Given the description of an element on the screen output the (x, y) to click on. 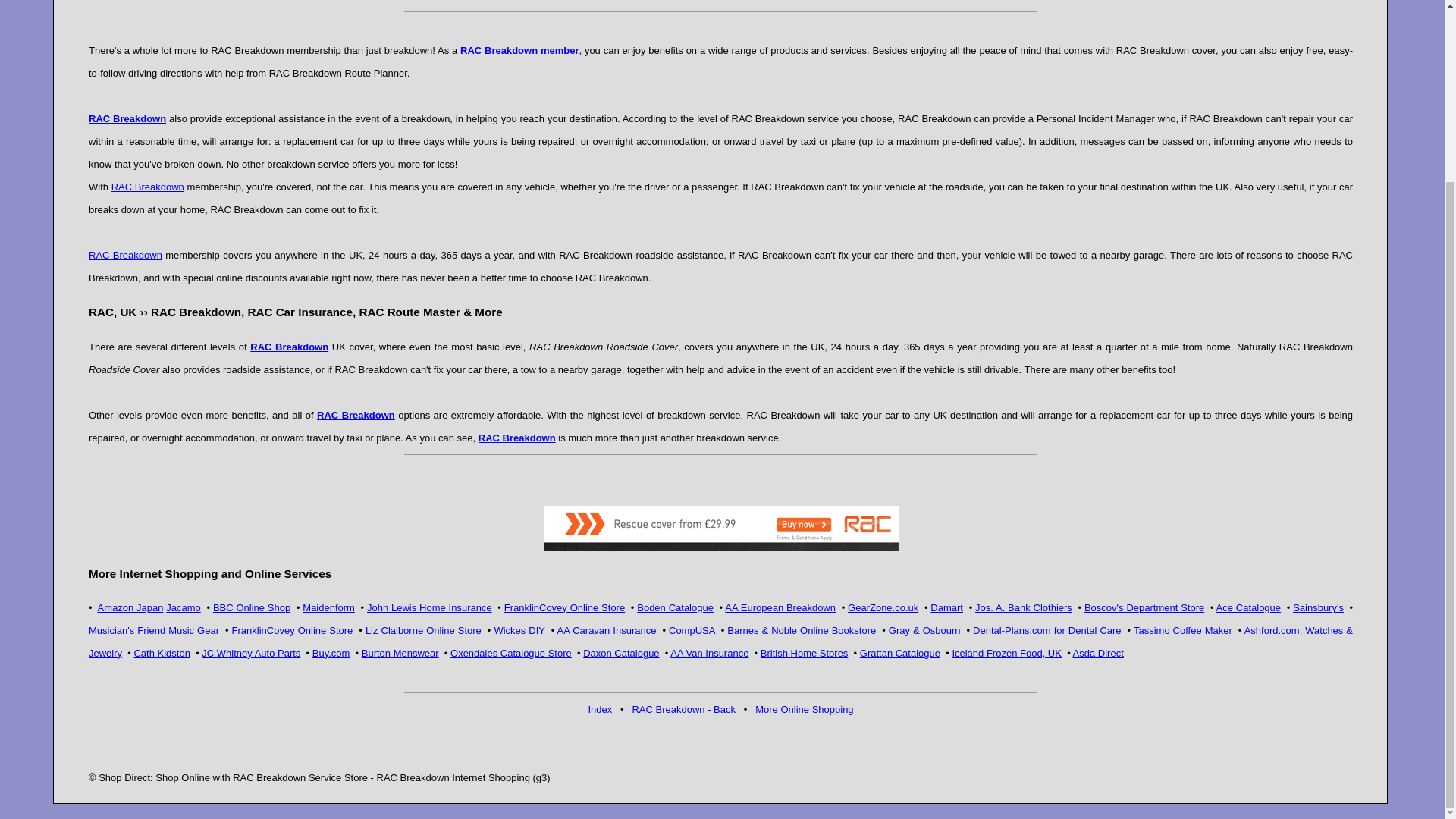
Boscov's Department Store (1144, 607)
RAC Breakdown (289, 346)
Wickes DIY (518, 630)
RAC Breakdown (148, 186)
CompUSA (691, 630)
John Lewis Home Insurance (429, 607)
RAC Breakdown (124, 255)
Boden Catalogue (675, 607)
AA European Breakdown (780, 607)
FranklinCovey Online Store (563, 607)
Jos. A. Bank Clothiers (1023, 607)
AA Caravan Insurance (606, 630)
BBC Online Shop (250, 607)
Ace Catalogue (1248, 607)
RAC Breakdown (517, 437)
